Given the description of an element on the screen output the (x, y) to click on. 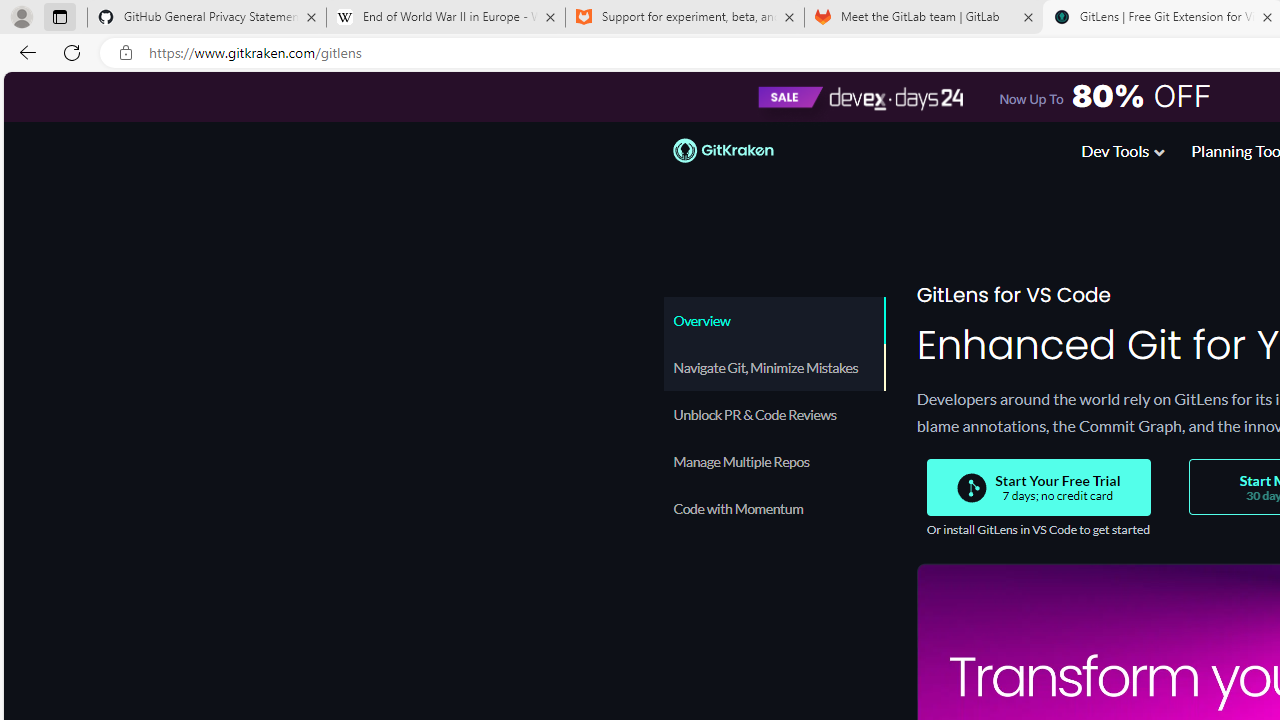
Navigate Git, Minimize Mistakes (773, 367)
To get missing image descriptions, open the context menu. (971, 488)
Code with Momentum (774, 508)
Meet the GitLab team | GitLab (924, 17)
Unblock PR & Code Reviews (773, 414)
Manage Multiple Repos (773, 461)
